Given the description of an element on the screen output the (x, y) to click on. 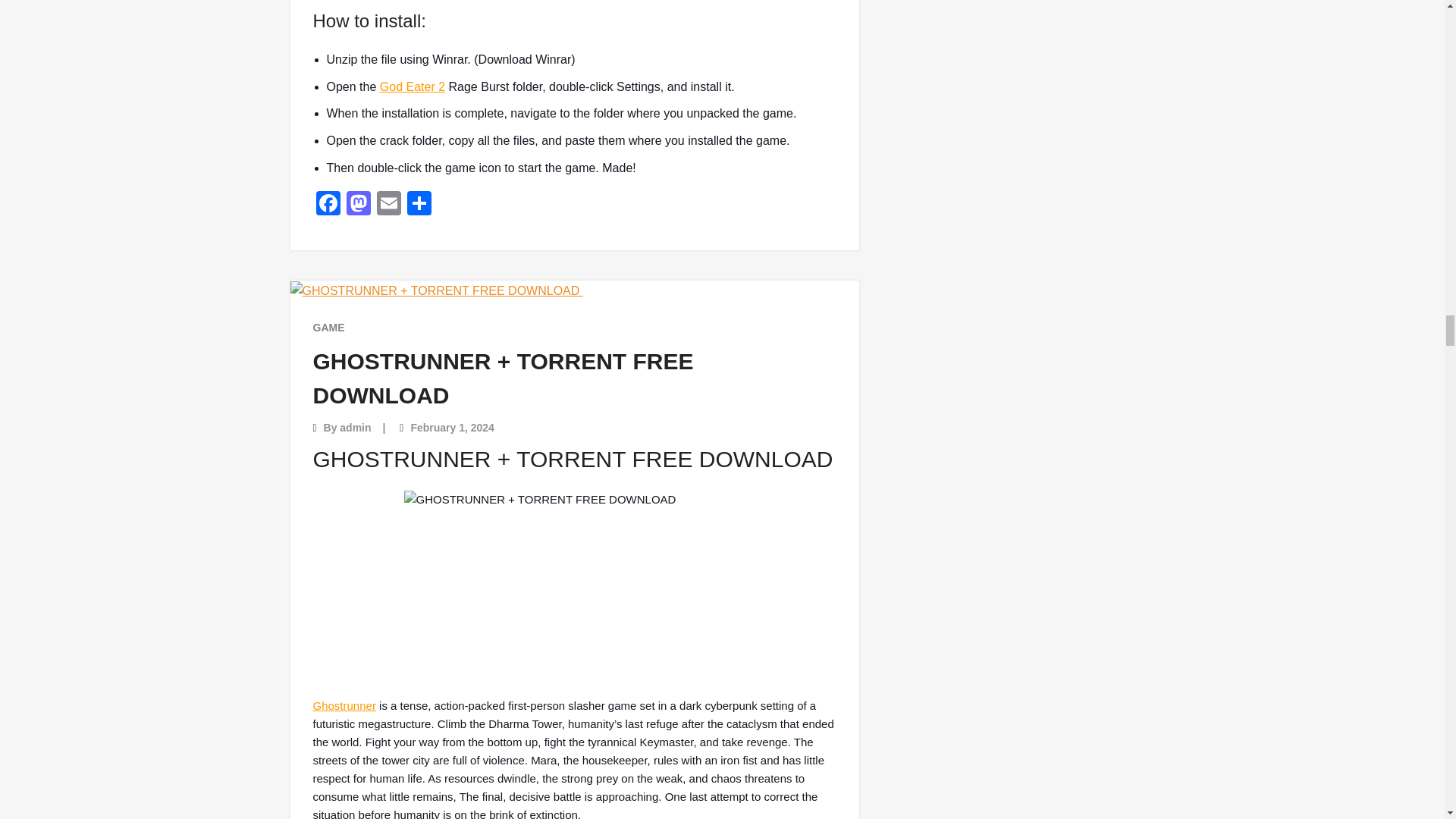
Email (387, 204)
Mastodon (357, 204)
Facebook (327, 204)
